Given the description of an element on the screen output the (x, y) to click on. 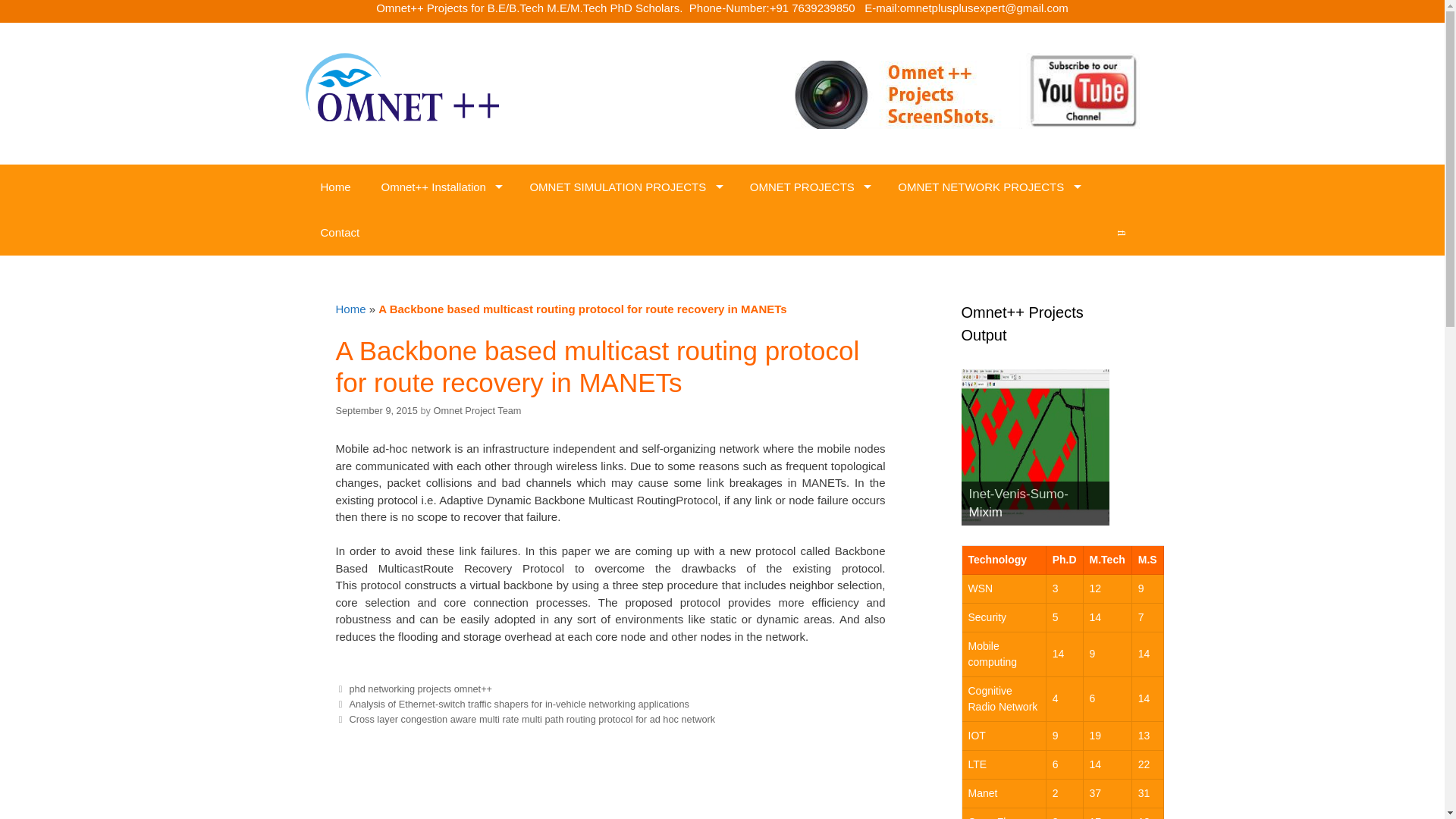
Next (524, 718)
Skip to content (37, 31)
12:52 pm (375, 410)
Skip to content (37, 31)
Inet-Venis-Sumo-Mixim (1034, 444)
OMNET PROJECTS (809, 186)
omnetplusplus.com (400, 87)
Home (334, 186)
OMNET NETWORK PROJECTS (987, 186)
OMNET SIMULATION PROJECTS (623, 186)
omnetplusplus.com (400, 85)
View all posts by Omnet Project Team (477, 410)
Previous (511, 704)
Contact (339, 231)
